Given the description of an element on the screen output the (x, y) to click on. 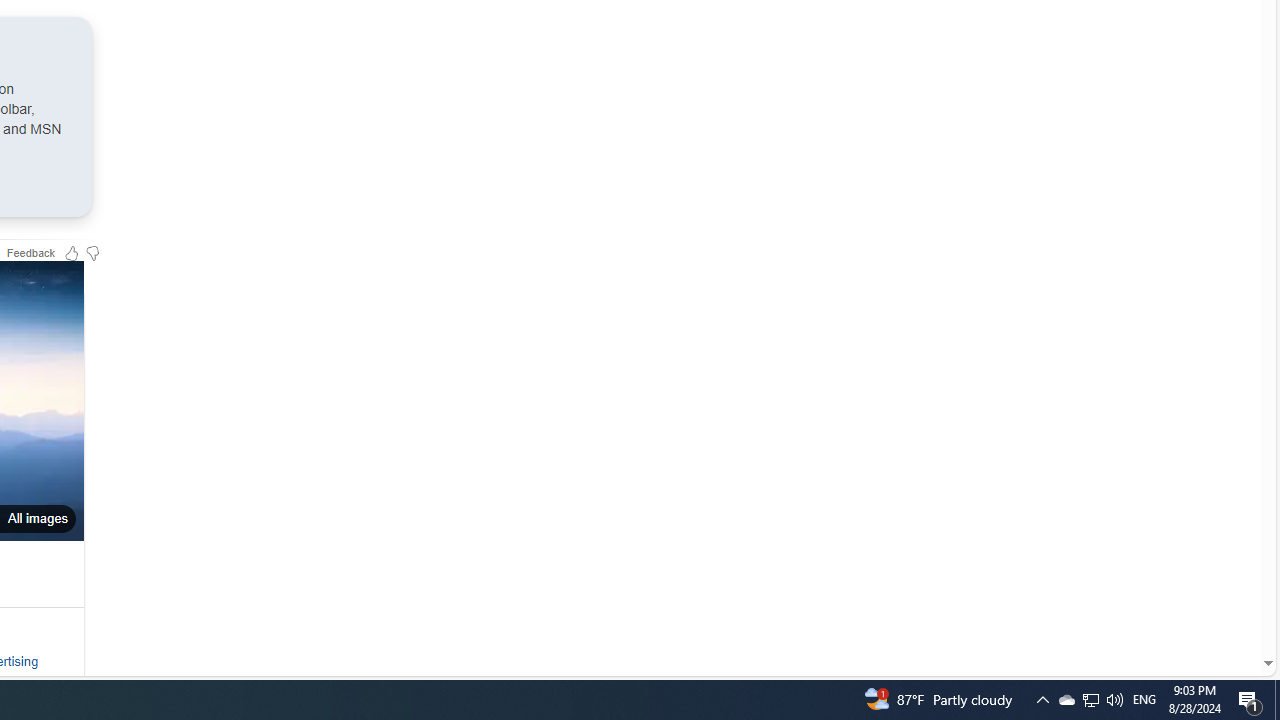
Feedback Dislike (91, 252)
AutomationID: mfa_root (1192, 603)
Search more (1222, 604)
Feedback Like (71, 252)
